Given the description of an element on the screen output the (x, y) to click on. 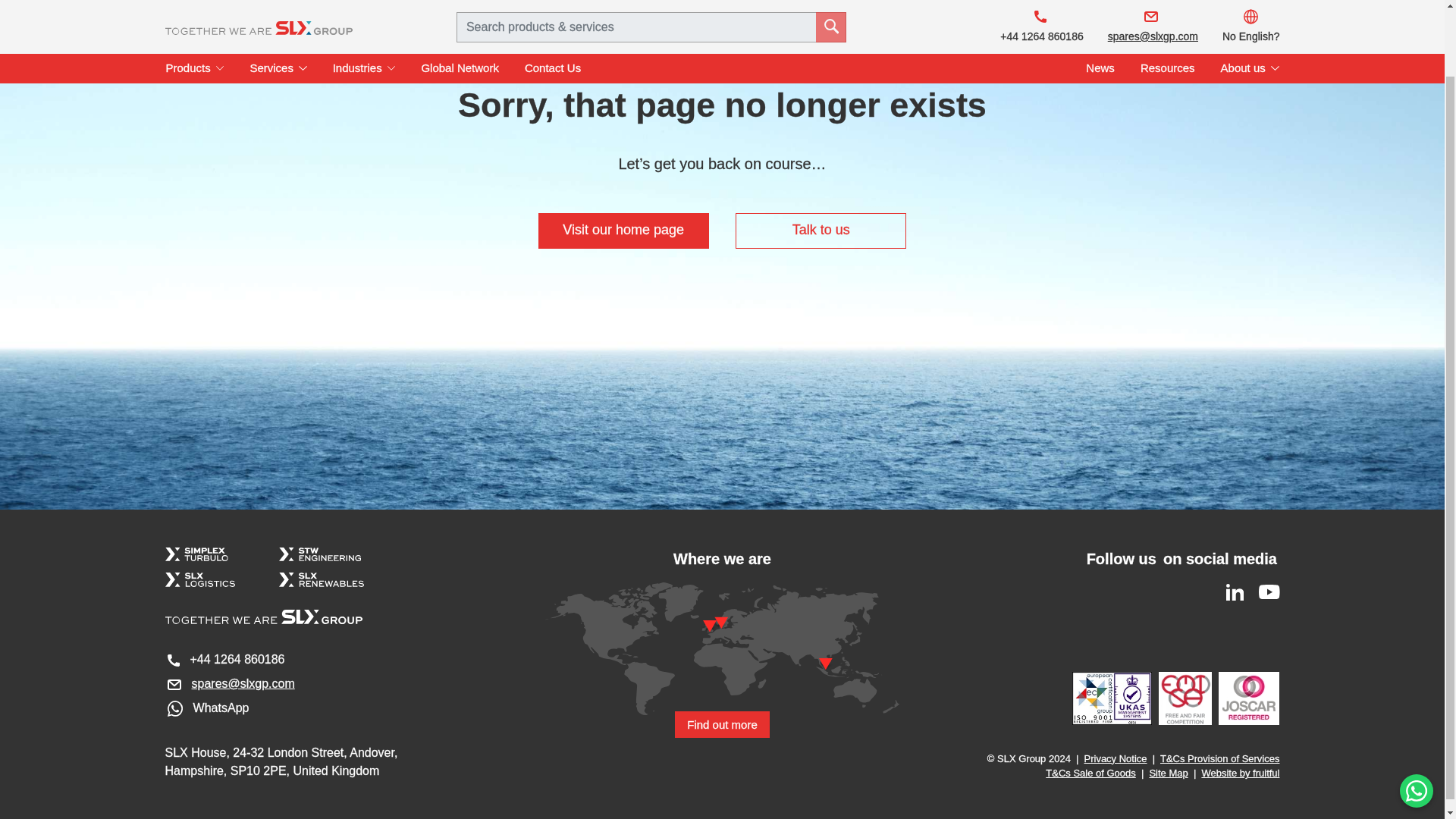
Services (276, 4)
Products (194, 4)
